Given the description of an element on the screen output the (x, y) to click on. 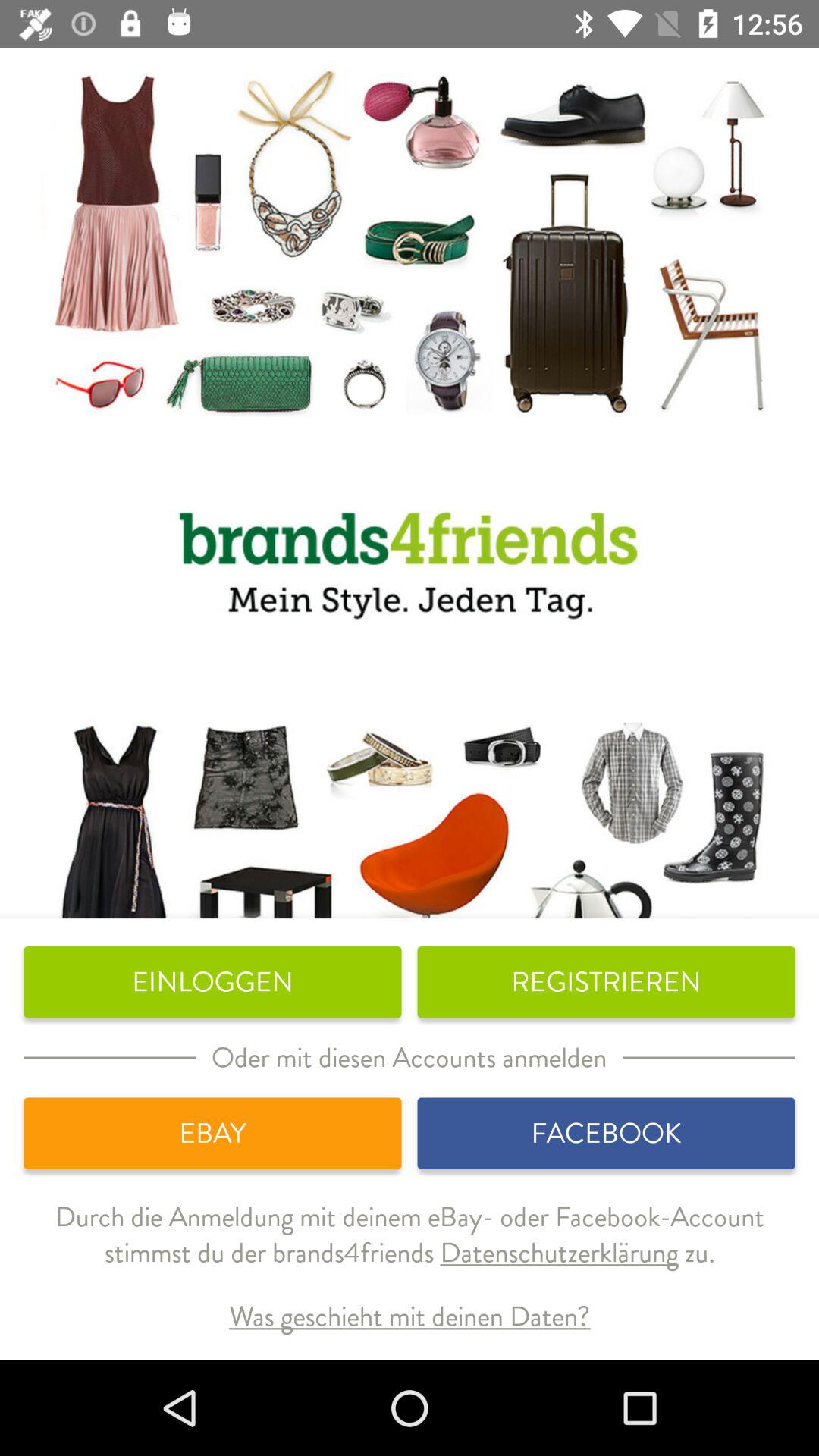
open the durch die anmeldung (409, 1246)
